Given the description of an element on the screen output the (x, y) to click on. 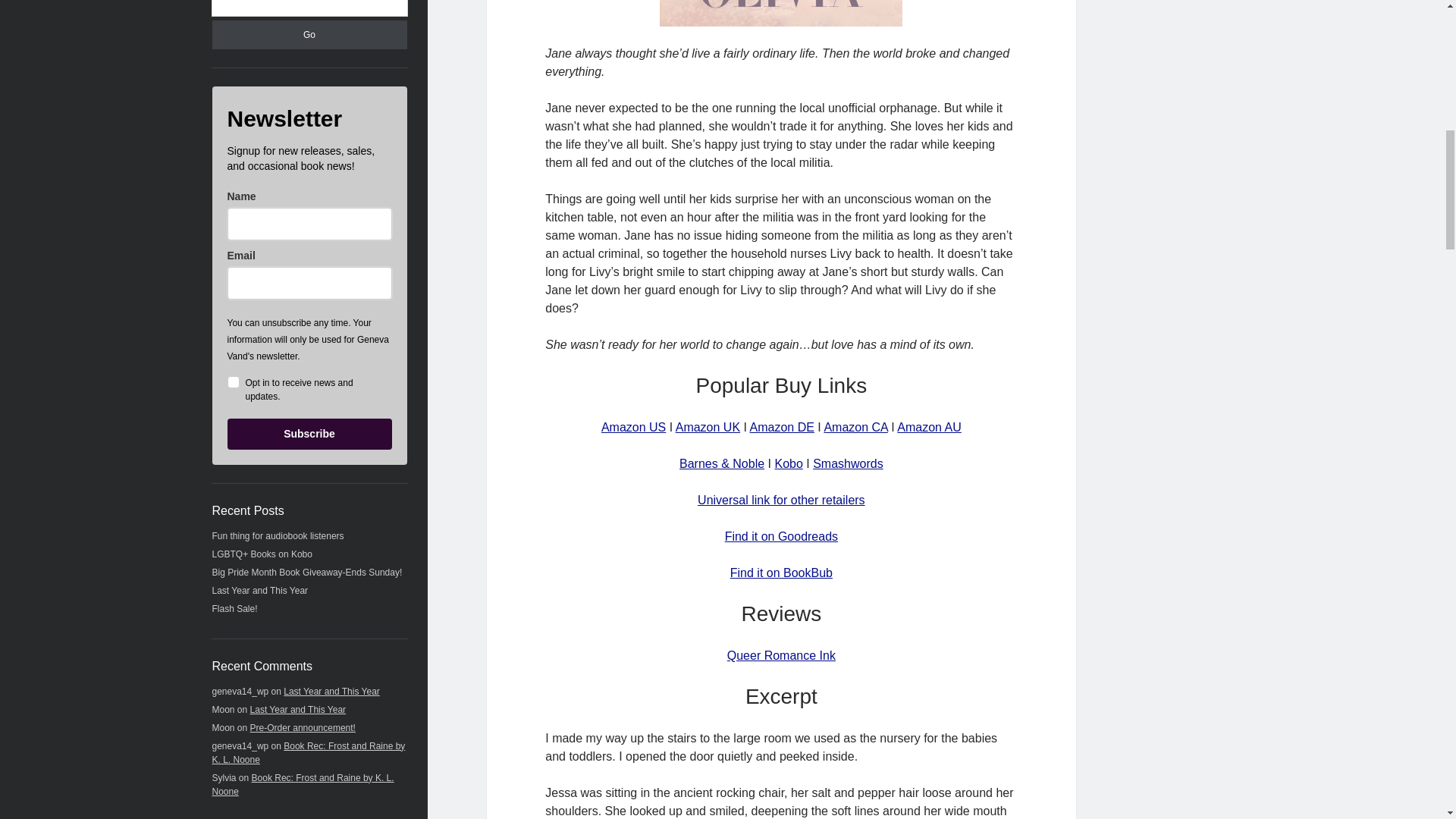
Last Year and This Year (298, 709)
Go (309, 34)
Big Pride Month Book Giveaway-Ends Sunday! (307, 572)
Last Year and This Year (331, 691)
Book Rec: Frost and Raine by K. L. Noone (303, 784)
Pre-Order announcement! (302, 727)
Go (309, 34)
Flash Sale! (234, 608)
Book Rec: Frost and Raine by K. L. Noone (309, 752)
Fun thing for audiobook listeners (277, 535)
